Given the description of an element on the screen output the (x, y) to click on. 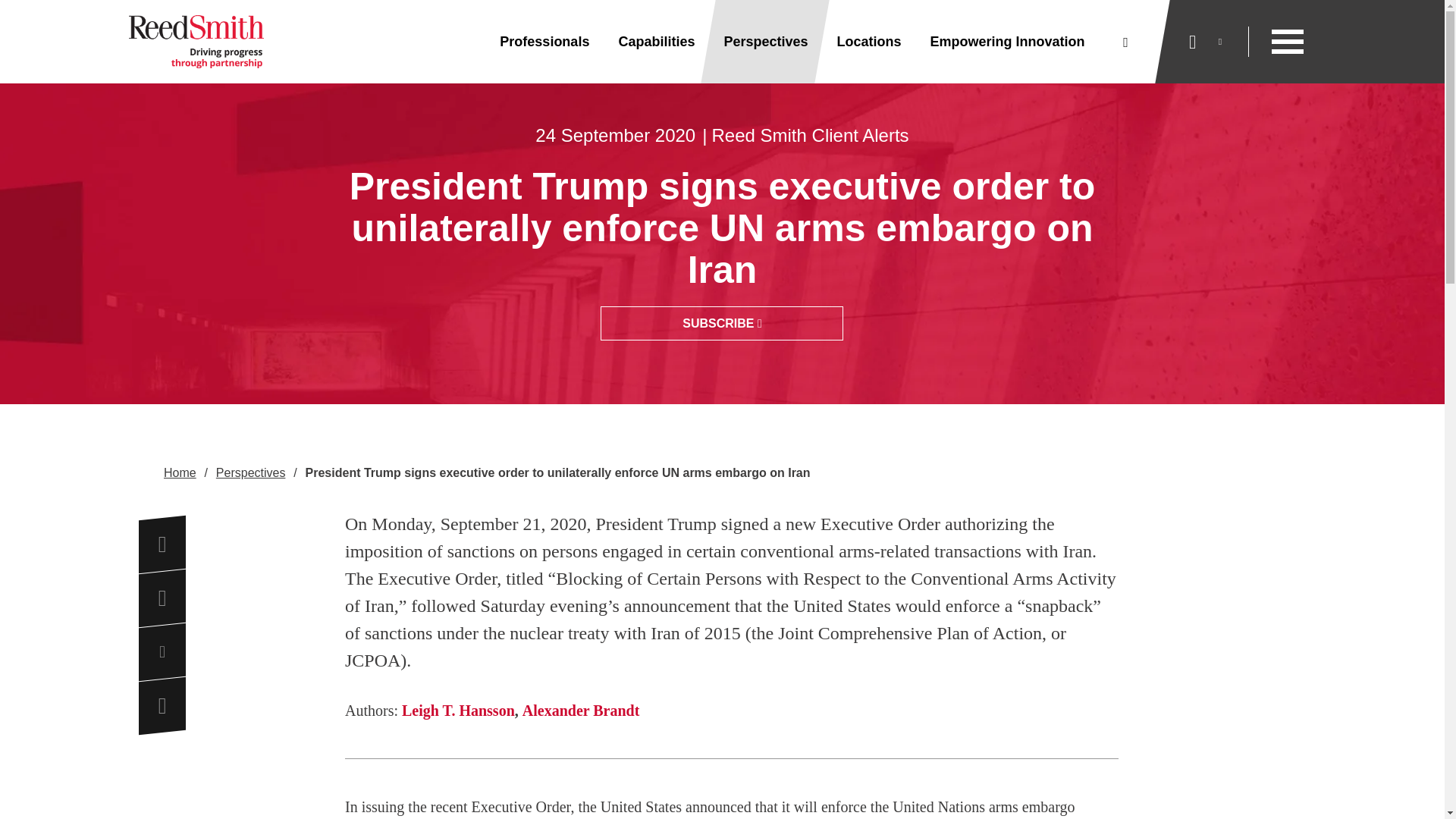
Authors: Leigh T. Hansson Alexander Brandt (731, 710)
Professionals (544, 41)
Capabilities (656, 41)
